Given the description of an element on the screen output the (x, y) to click on. 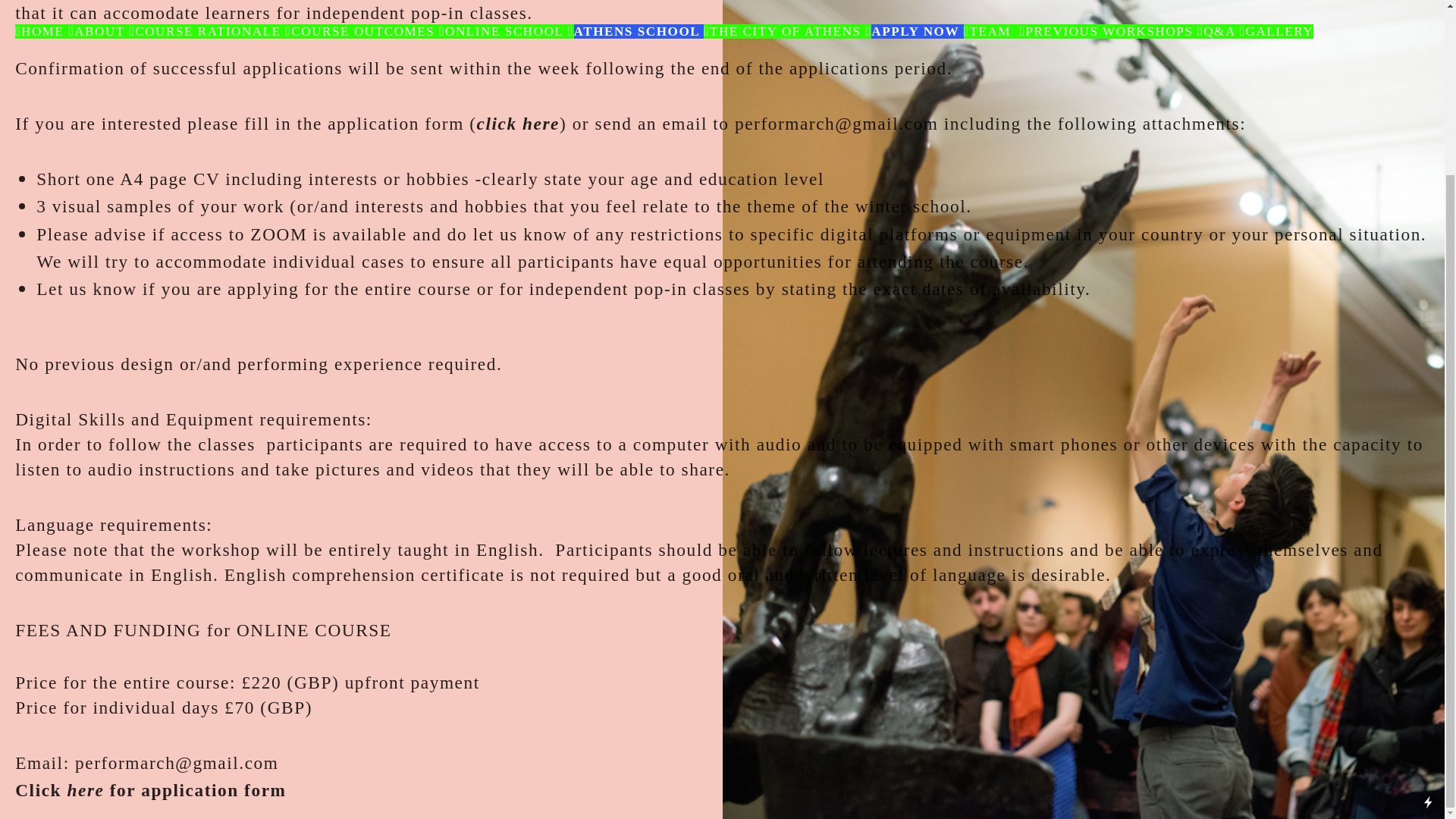
Click here for application form (149, 790)
click here (518, 124)
